Given the description of an element on the screen output the (x, y) to click on. 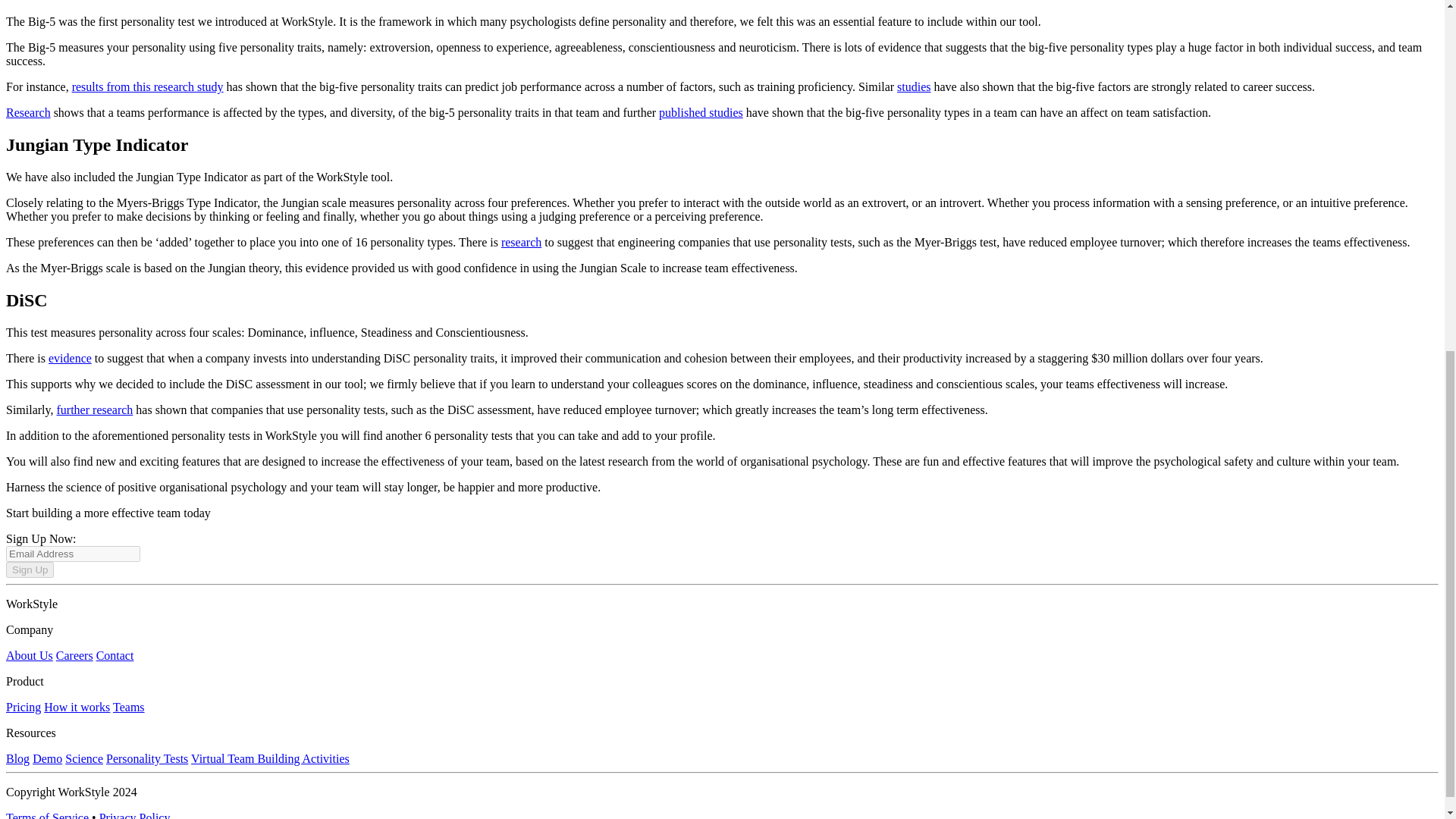
Personality Tests (146, 758)
How it works (76, 707)
research (520, 241)
Pricing (22, 707)
Research (27, 112)
Careers (74, 655)
How it works (76, 707)
results from this research study (147, 86)
Contact (114, 655)
published studies (700, 112)
Teams (128, 707)
About Us (28, 655)
studies (913, 86)
Science (84, 758)
Blog (17, 758)
